Given the description of an element on the screen output the (x, y) to click on. 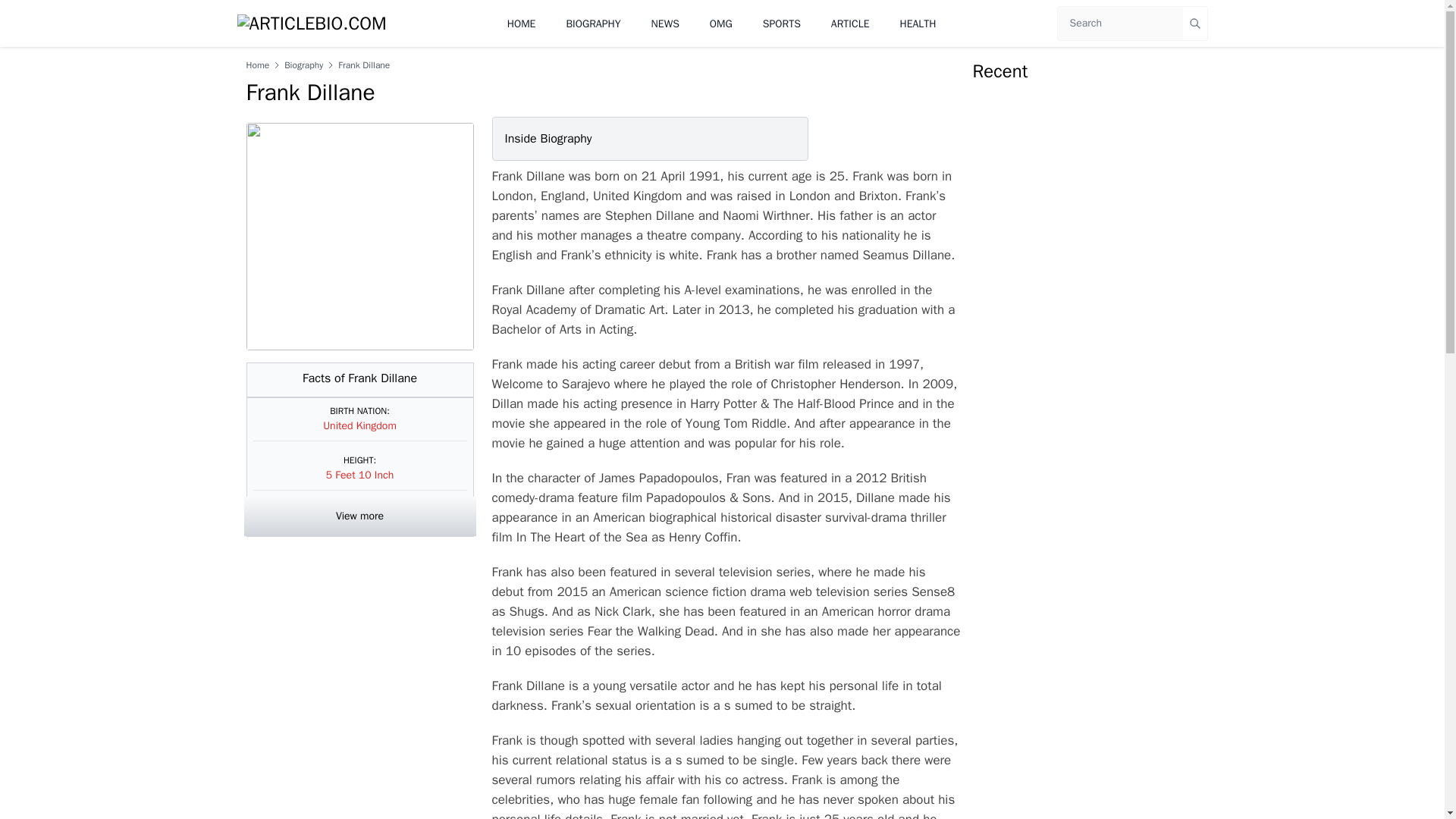
NEWS (664, 23)
HOME (520, 23)
Search (1195, 22)
HEALTH (917, 23)
BIOGRAPHY (593, 23)
OMG (721, 23)
Home (257, 64)
5 Feet 10 Inch (360, 474)
Biography (303, 64)
ARTICLE (850, 23)
United Kingdom (359, 425)
SPORTS (781, 23)
